Given the description of an element on the screen output the (x, y) to click on. 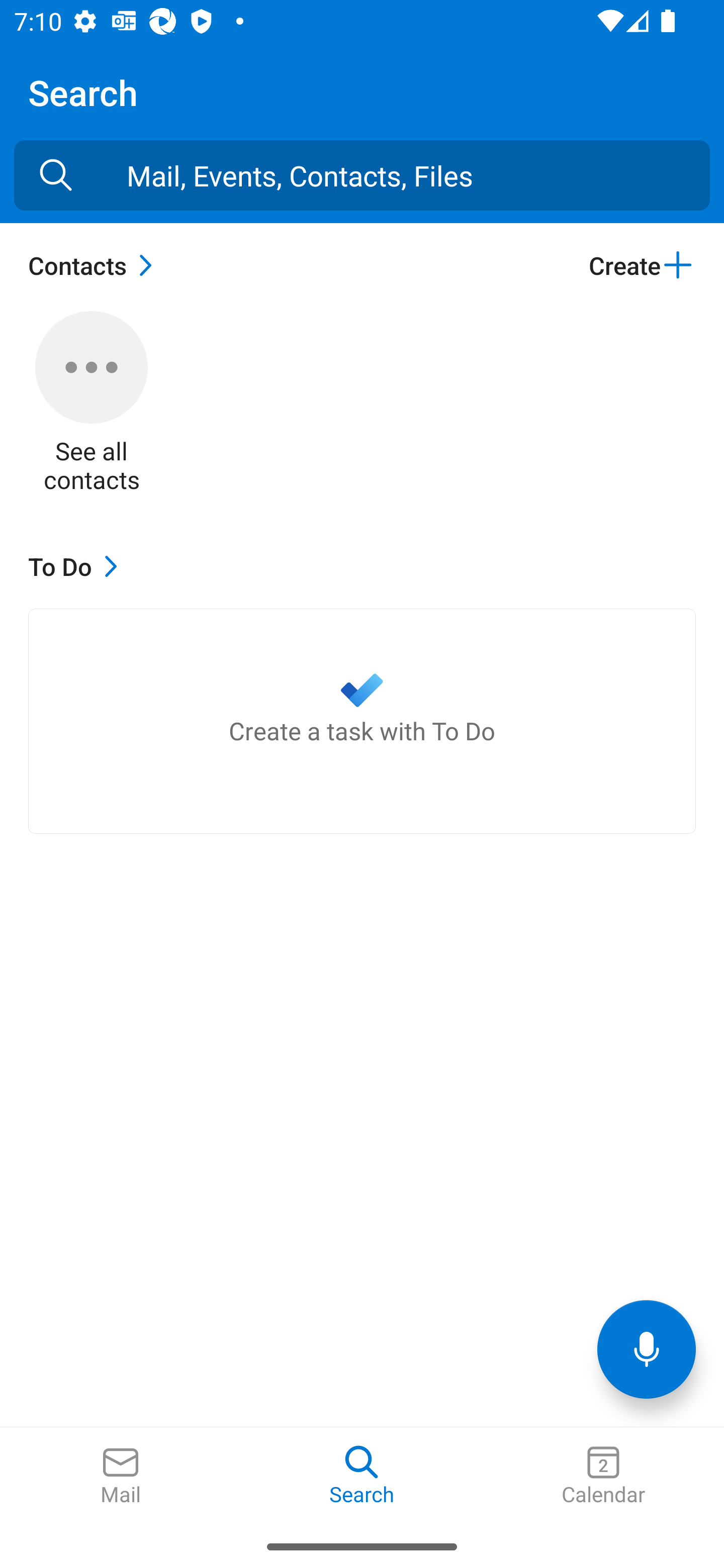
Search Mail, Events, Contacts, Files (55, 174)
Contacts (95, 264)
Create Create contact (641, 264)
See all contacts (91, 402)
To Do (77, 565)
Create a task with To Do (361, 721)
Voice Assistant (646, 1348)
Mail (120, 1475)
Calendar (603, 1475)
